Given the description of an element on the screen output the (x, y) to click on. 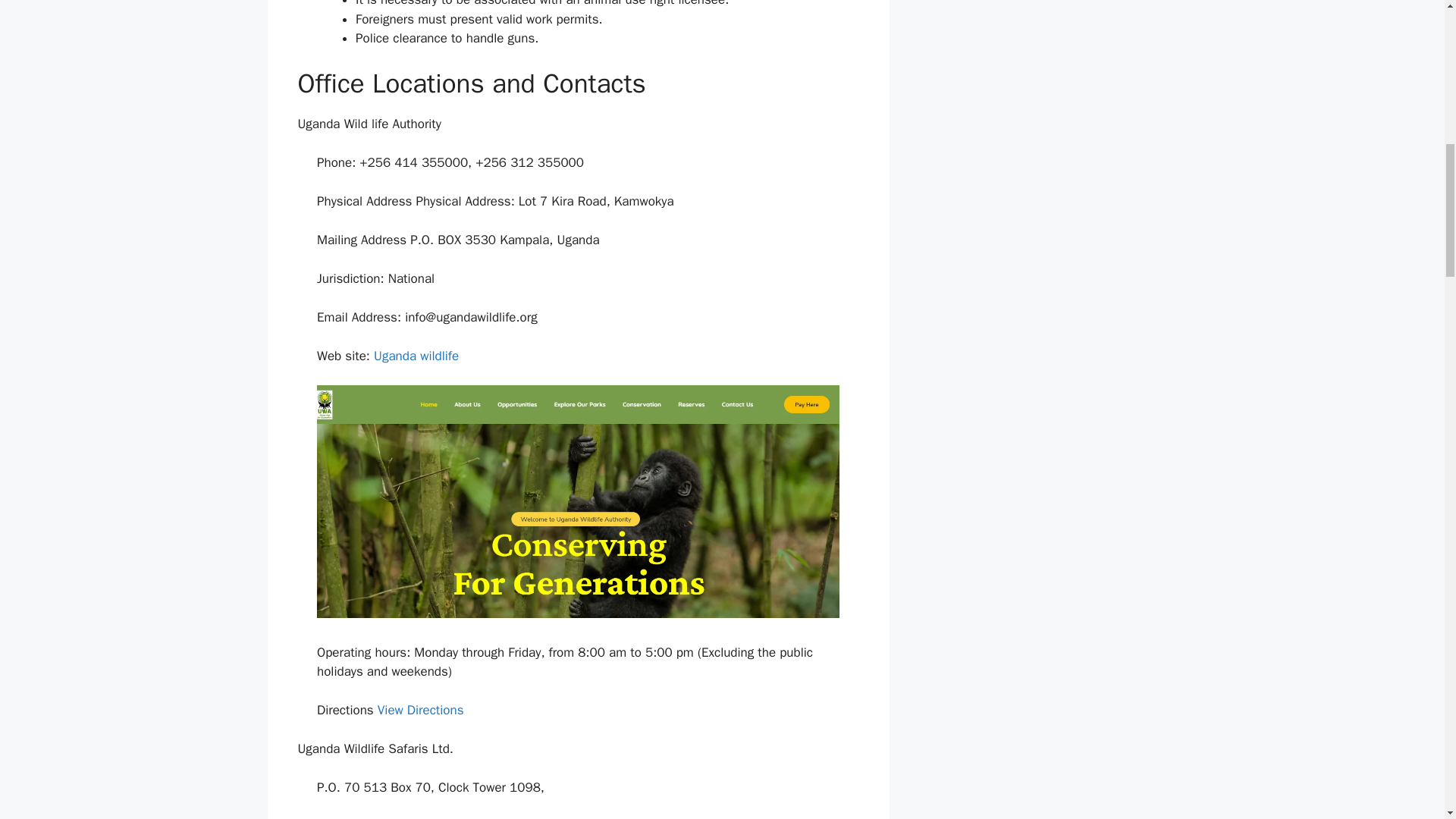
View Directions (420, 709)
Uganda wildlife (416, 355)
